Given the description of an element on the screen output the (x, y) to click on. 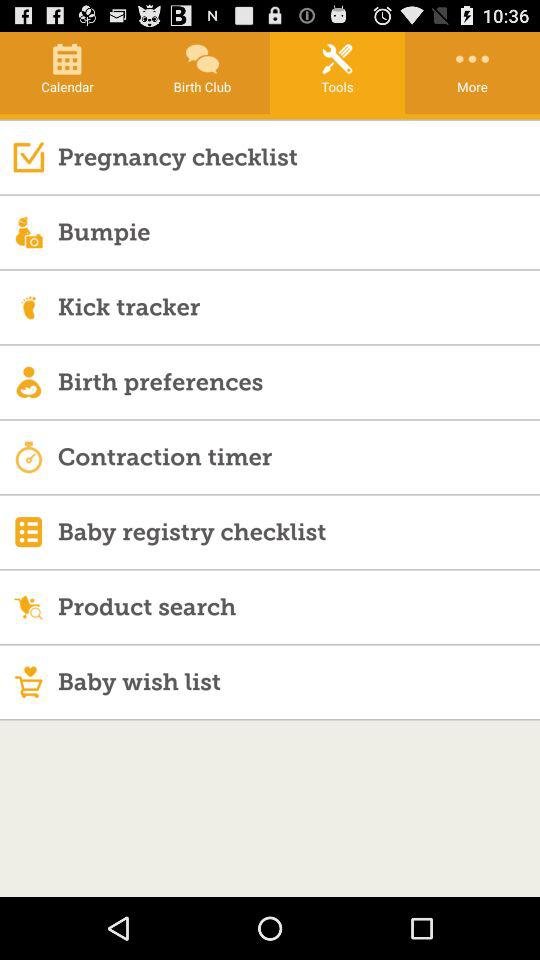
swipe to the bumpie (298, 231)
